Given the description of an element on the screen output the (x, y) to click on. 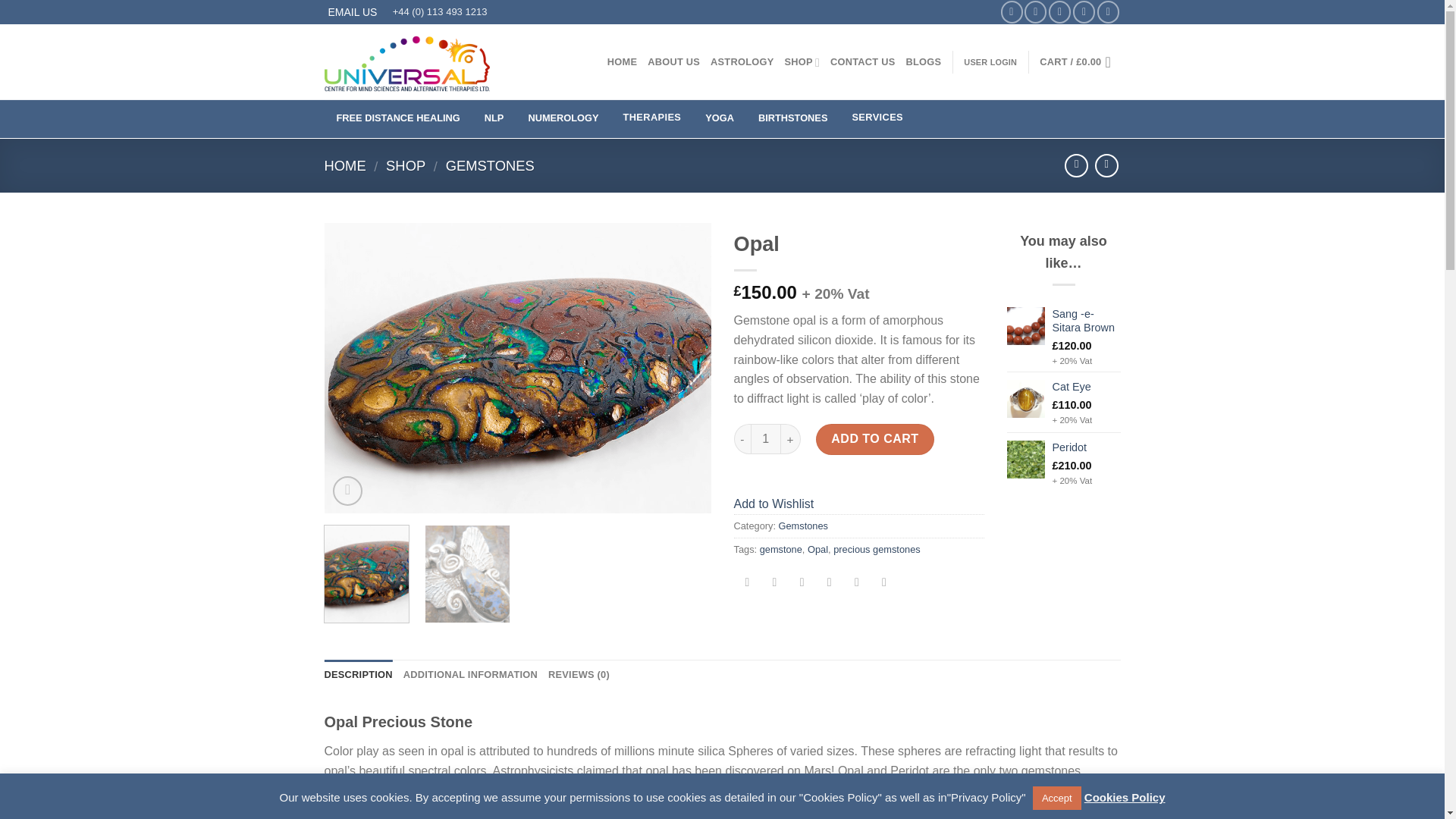
FREE DISTANCE HEALING (397, 118)
Cat Eye (1086, 386)
opal (517, 367)
Cart (1079, 61)
EMAIL US (354, 12)
NUMEROLOGY (562, 118)
NLP (493, 118)
1 (765, 439)
BIRTHSTONES (792, 118)
USER LOGIN (989, 62)
THERAPIES (652, 117)
BLOGS (923, 61)
Universal Life Energies - Online Gemstones Store (406, 62)
SHOP (801, 61)
CONTACT US (862, 61)
